Given the description of an element on the screen output the (x, y) to click on. 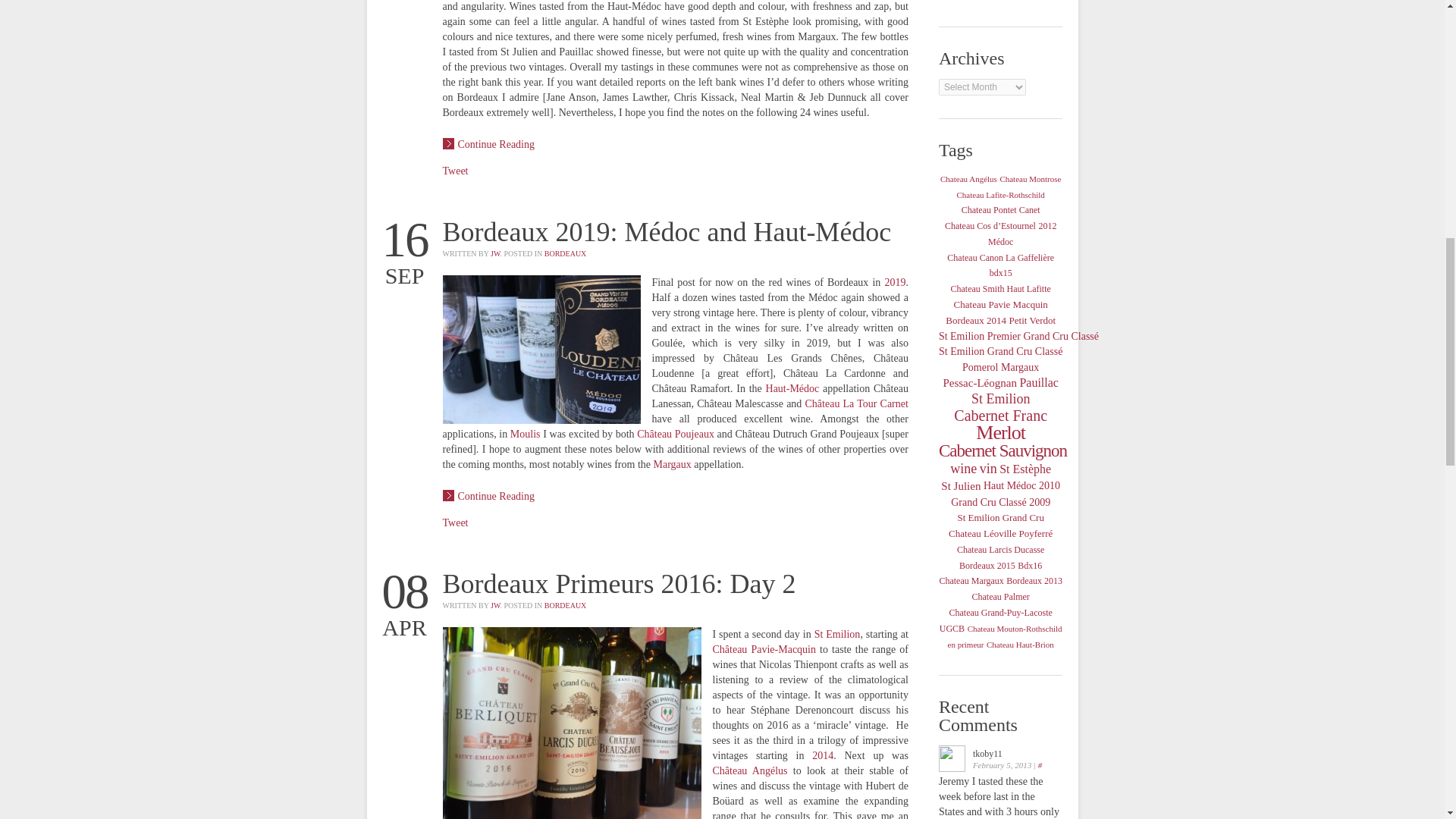
JW (494, 253)
JW (494, 605)
Bordeaux Primeurs 2016: Day 2 (619, 583)
